Given the description of an element on the screen output the (x, y) to click on. 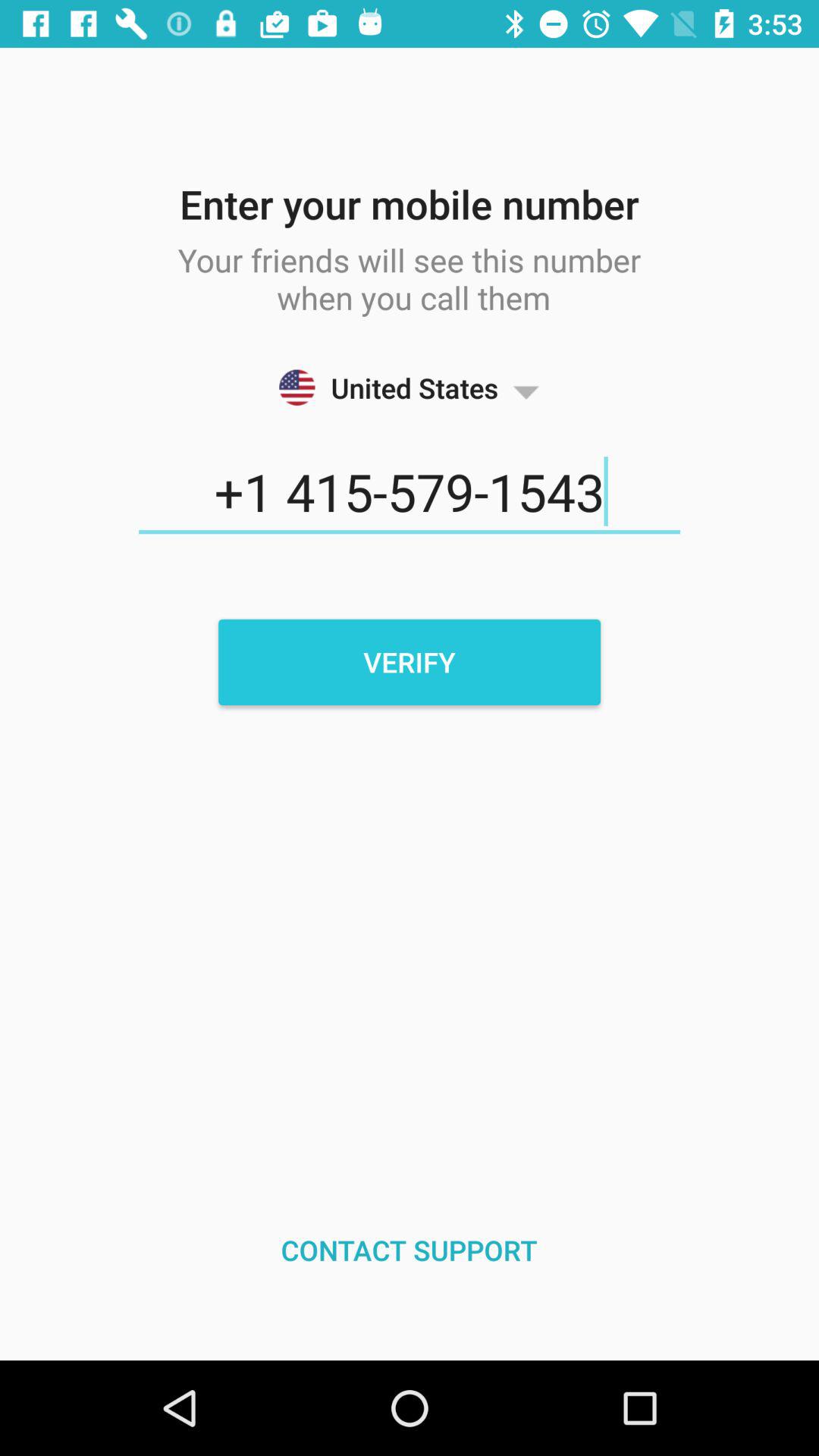
launch item below united states icon (409, 491)
